Given the description of an element on the screen output the (x, y) to click on. 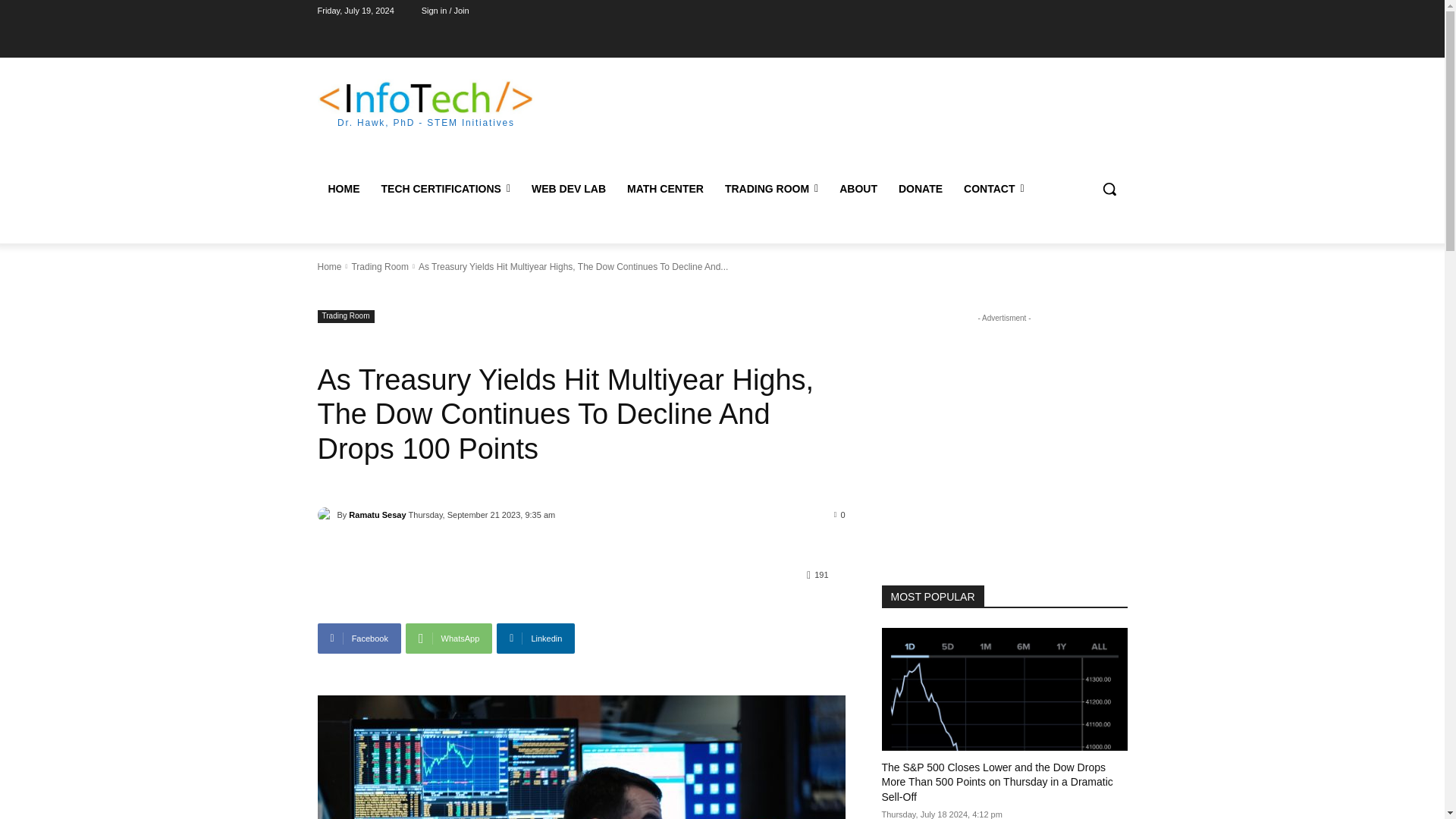
InfoTech Education Corp. Logo (425, 102)
Dr. Hawk, PhD - STEM Initiatives (425, 102)
InfoTech Education Corp. Logo (425, 97)
HOME (343, 188)
Advertisement (846, 119)
TECH CERTIFICATIONS (445, 188)
